Given the description of an element on the screen output the (x, y) to click on. 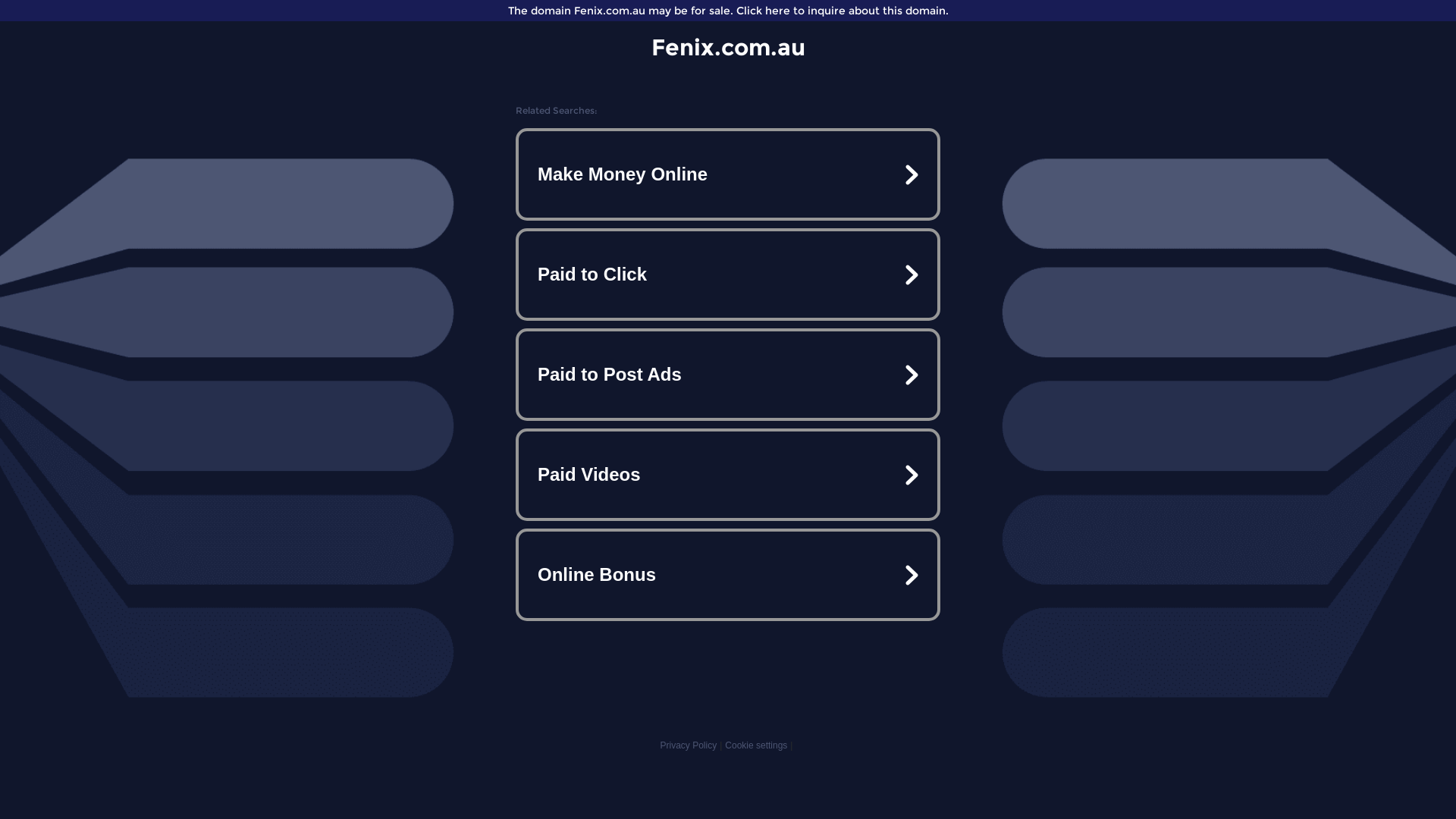
Make Money Online Element type: text (727, 174)
Paid Videos Element type: text (727, 474)
Paid to Click Element type: text (727, 274)
Online Bonus Element type: text (727, 574)
Fenix.com.au Element type: text (727, 47)
Paid to Post Ads Element type: text (727, 374)
Privacy Policy Element type: text (687, 745)
Cookie settings Element type: text (755, 745)
